Given the description of an element on the screen output the (x, y) to click on. 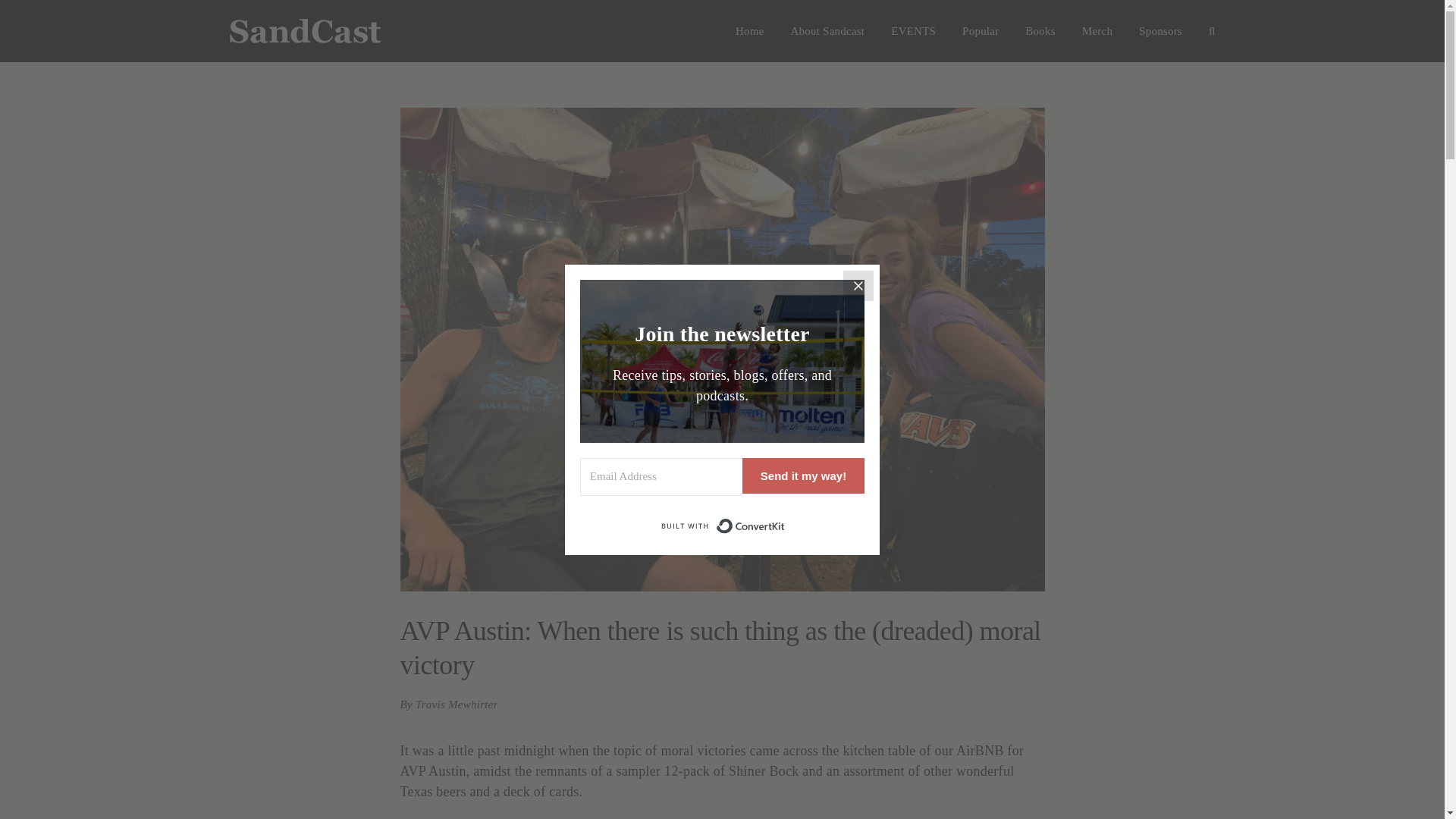
Books (1039, 31)
Travis Mewhirter (455, 703)
EVENTS (913, 31)
Home (749, 31)
Popular (980, 31)
Posts by Travis Mewhirter (455, 703)
Search (1211, 31)
About Sandcast (827, 31)
Sponsors (1160, 31)
Merch (1096, 31)
